Given the description of an element on the screen output the (x, y) to click on. 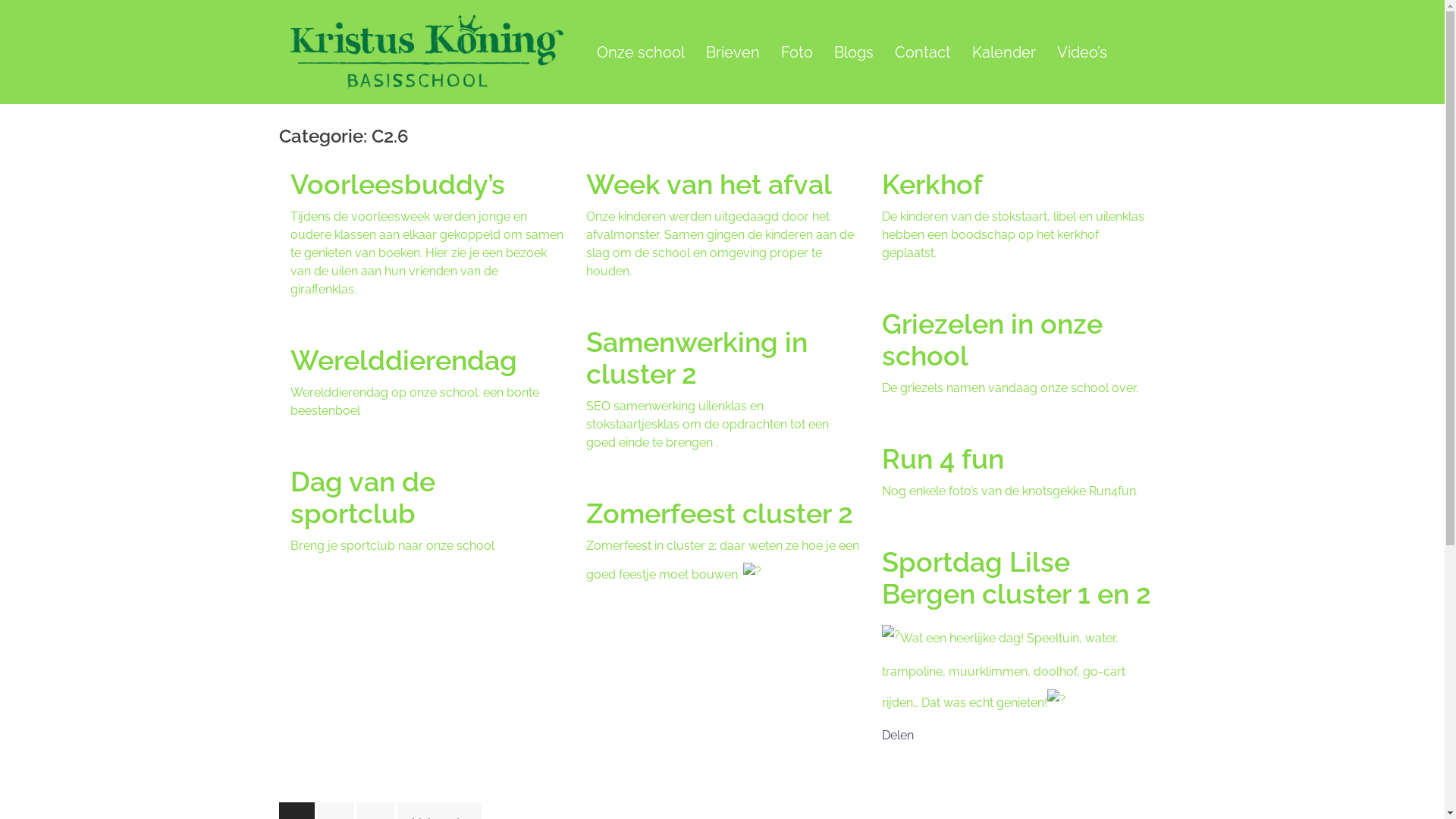
Werelddierendag op onze school: een bonte beestenboel Element type: text (413, 401)
Samenwerking in cluster 2 Element type: text (695, 357)
De griezels namen vandaag onze school over.  Element type: text (1010, 387)
Breng je sportclub naar onze school Element type: text (391, 545)
Blogs Element type: text (853, 52)
Kalender Element type: text (1003, 52)
Week van het afval Element type: text (708, 184)
Kerkhof Element type: text (931, 184)
Run 4 fun Element type: text (942, 458)
Onze school Element type: text (640, 52)
Foto Element type: text (796, 52)
Bulokk Element type: hover (425, 50)
Werelddierendag Element type: text (402, 360)
Brieven Element type: text (732, 52)
Dag van de sportclub Element type: text (361, 497)
Sportdag Lilse Bergen cluster 1 en 2 Element type: text (1015, 577)
Griezelen in onze school Element type: text (991, 339)
Zomerfeest cluster 2 Element type: text (718, 513)
Contact Element type: text (922, 52)
